Given the description of an element on the screen output the (x, y) to click on. 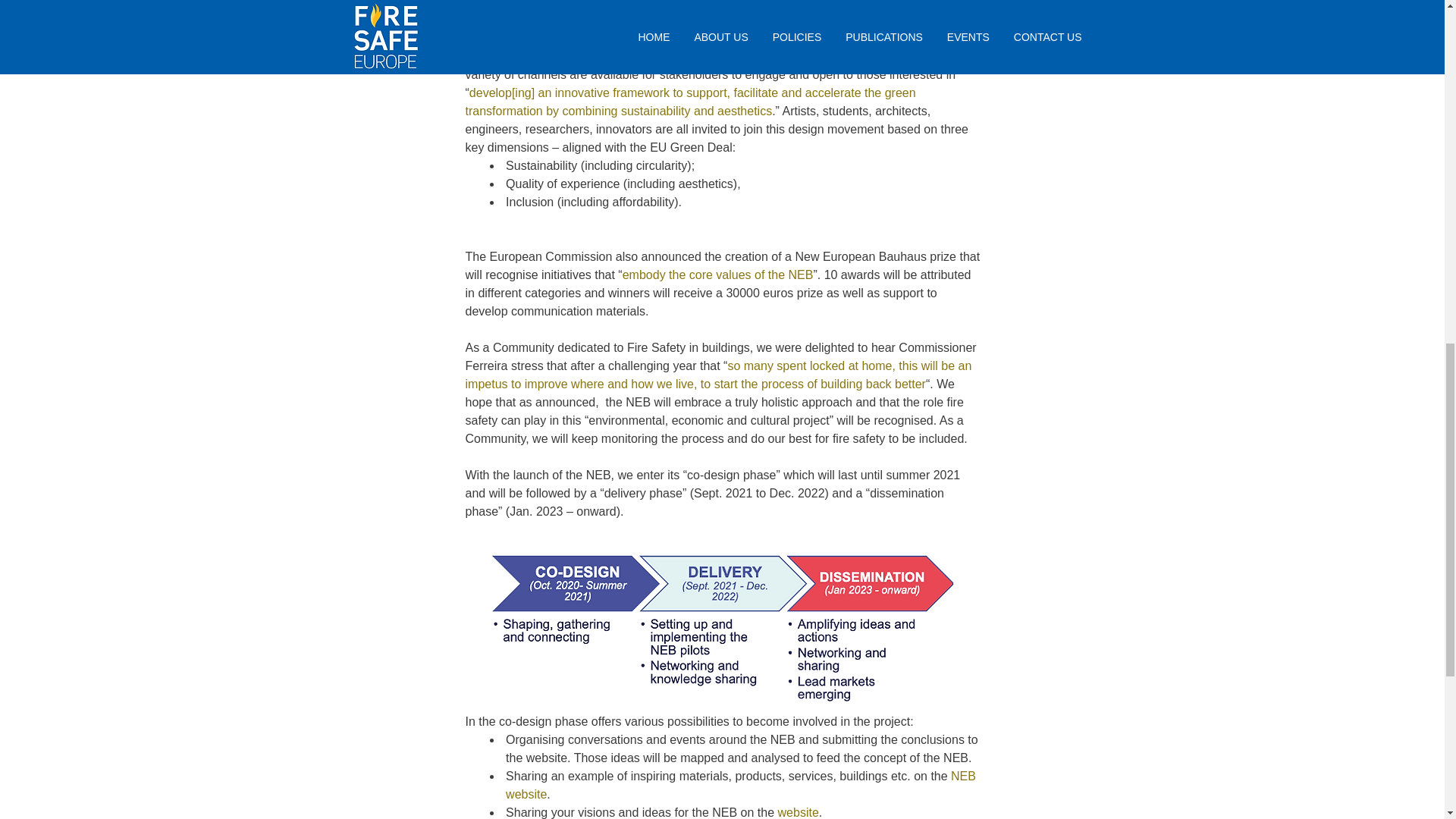
embody the core values of the NEB (718, 274)
NEB website (741, 784)
website (797, 811)
